Given the description of an element on the screen output the (x, y) to click on. 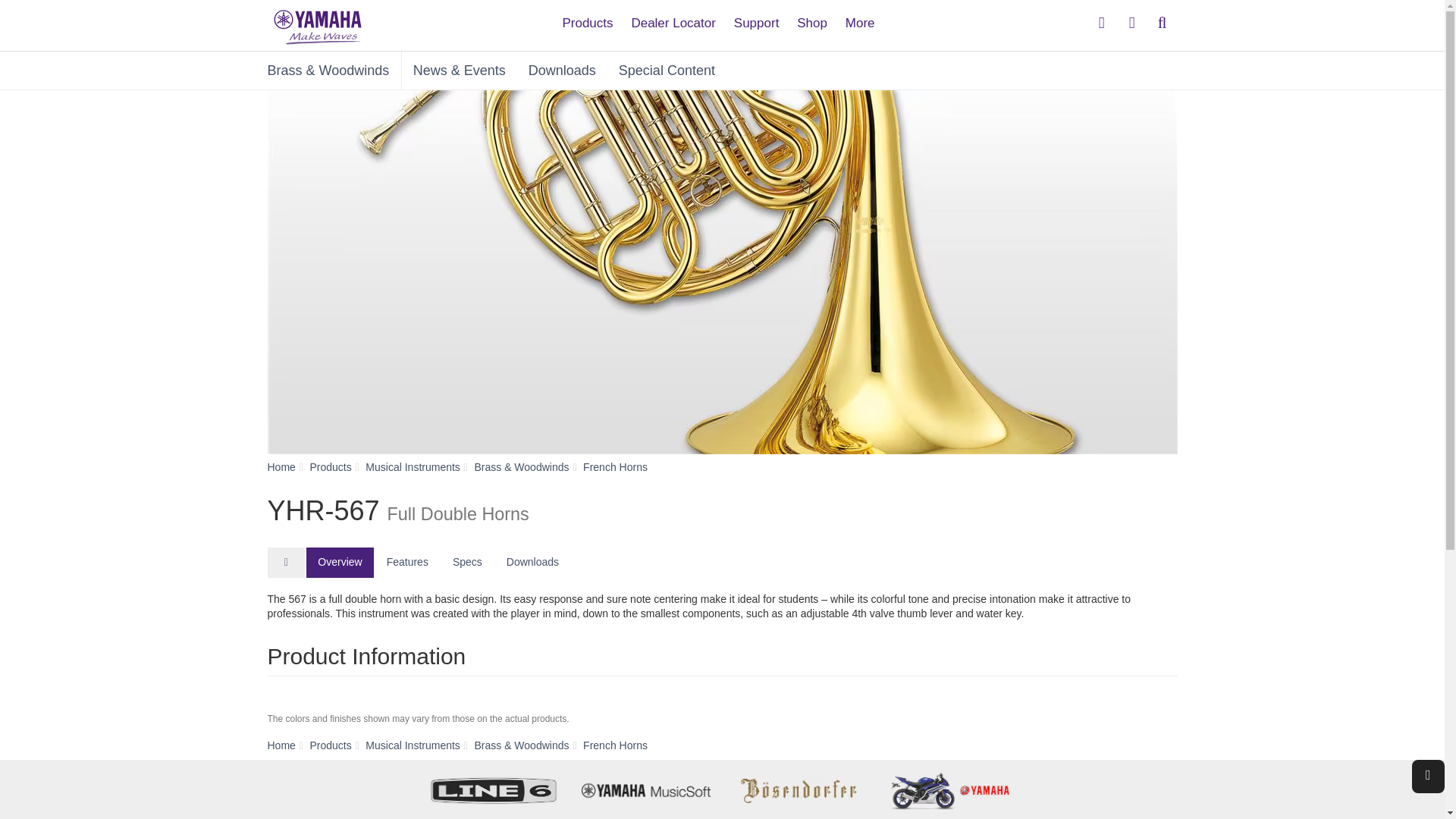
More (860, 17)
search (1162, 23)
My Account (1101, 23)
Dealer Locator (673, 17)
Shop (811, 17)
Products (587, 17)
Support (756, 17)
View Cart (1131, 23)
